Given the description of an element on the screen output the (x, y) to click on. 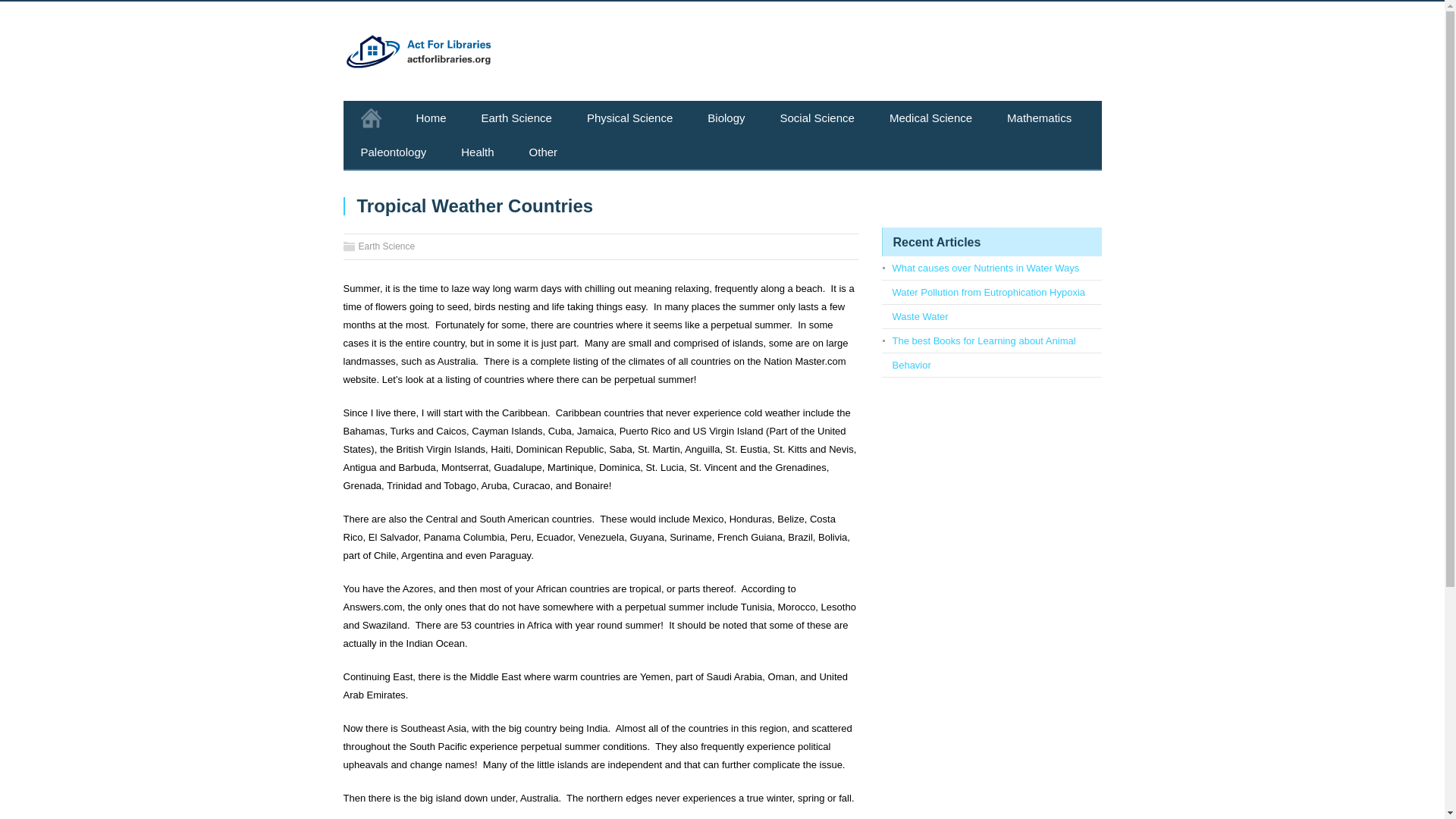
Other (543, 151)
Physical Science (629, 117)
Earth Science (516, 117)
The best Books for Learning about Animal Behavior (983, 352)
Social Science (817, 117)
Medical Science (931, 117)
Home (431, 117)
Paleontology (393, 151)
Health (477, 151)
Earth Science (386, 245)
Mathematics (1039, 117)
Biology (725, 117)
